Given the description of an element on the screen output the (x, y) to click on. 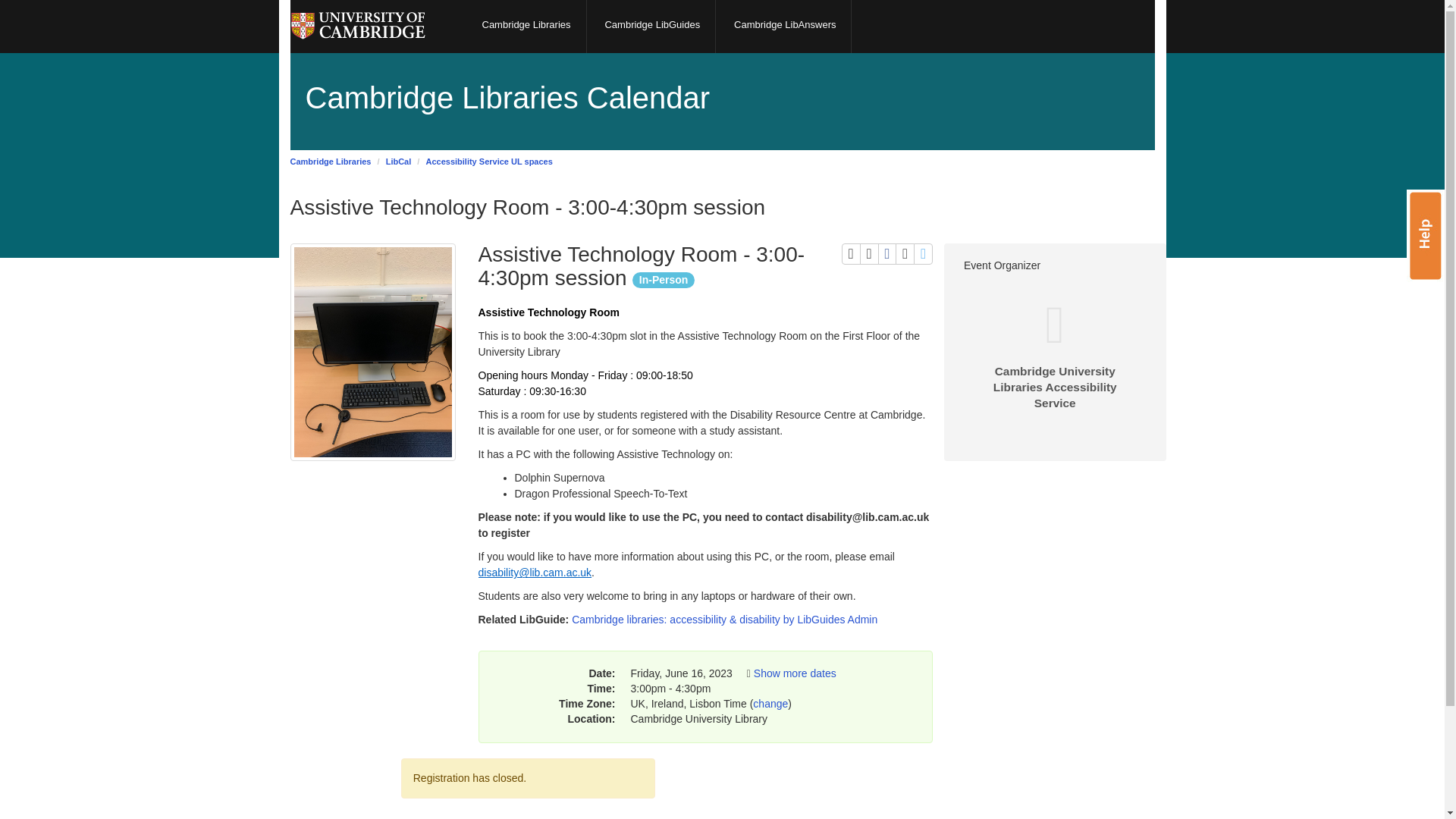
Cambridge Libraries (886, 253)
Cambridge LibAnswers (526, 26)
Cambridge Libraries (785, 26)
Show more dates (904, 253)
LibCal (330, 161)
change (794, 673)
Accessibility Service UL spaces (398, 161)
Cambridge LibGuides (769, 703)
Add to a Calendar using iCal (923, 253)
Print the page (488, 161)
